Given the description of an element on the screen output the (x, y) to click on. 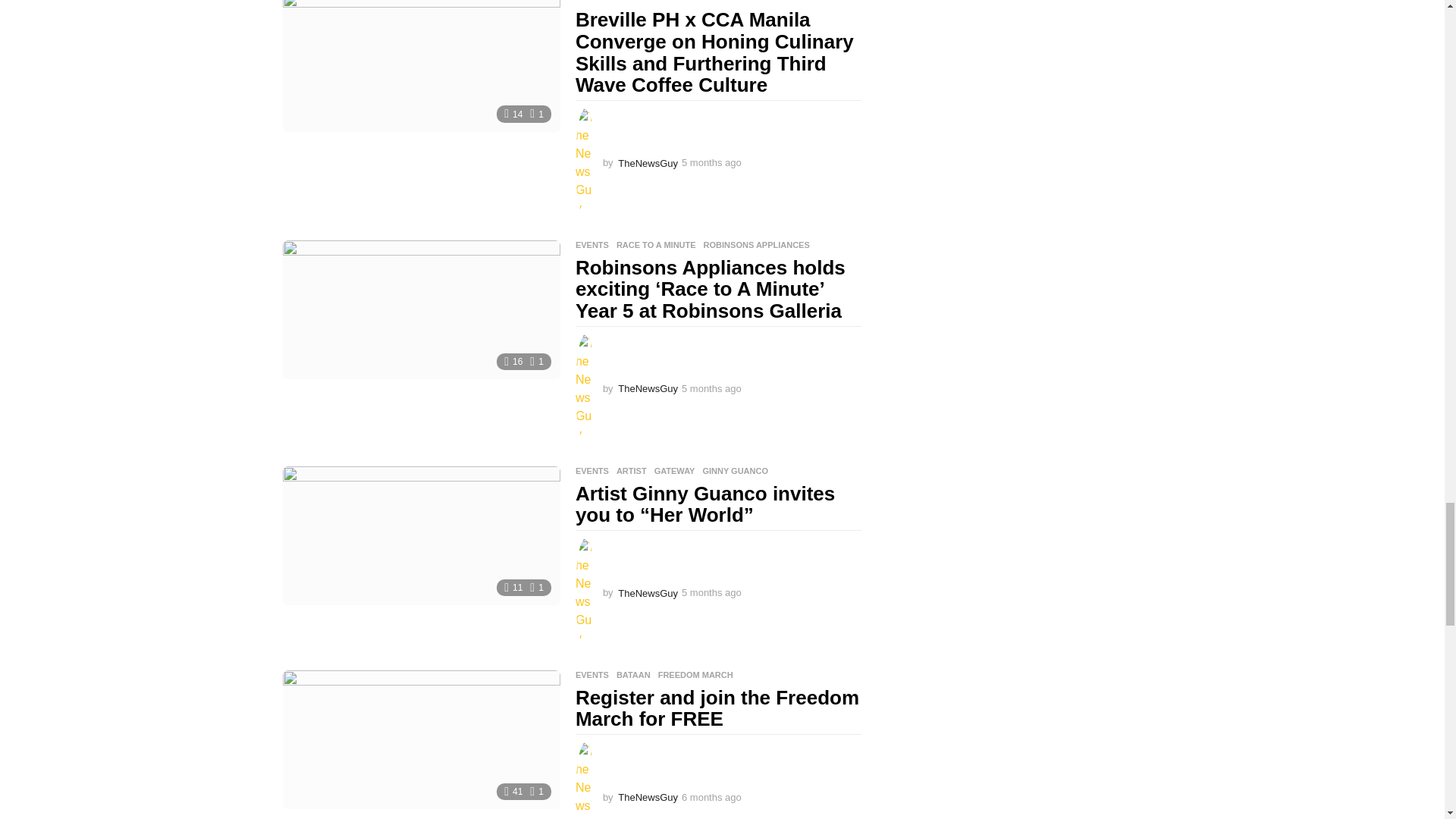
Register and join the Freedom March for FREE (420, 739)
